Given the description of an element on the screen output the (x, y) to click on. 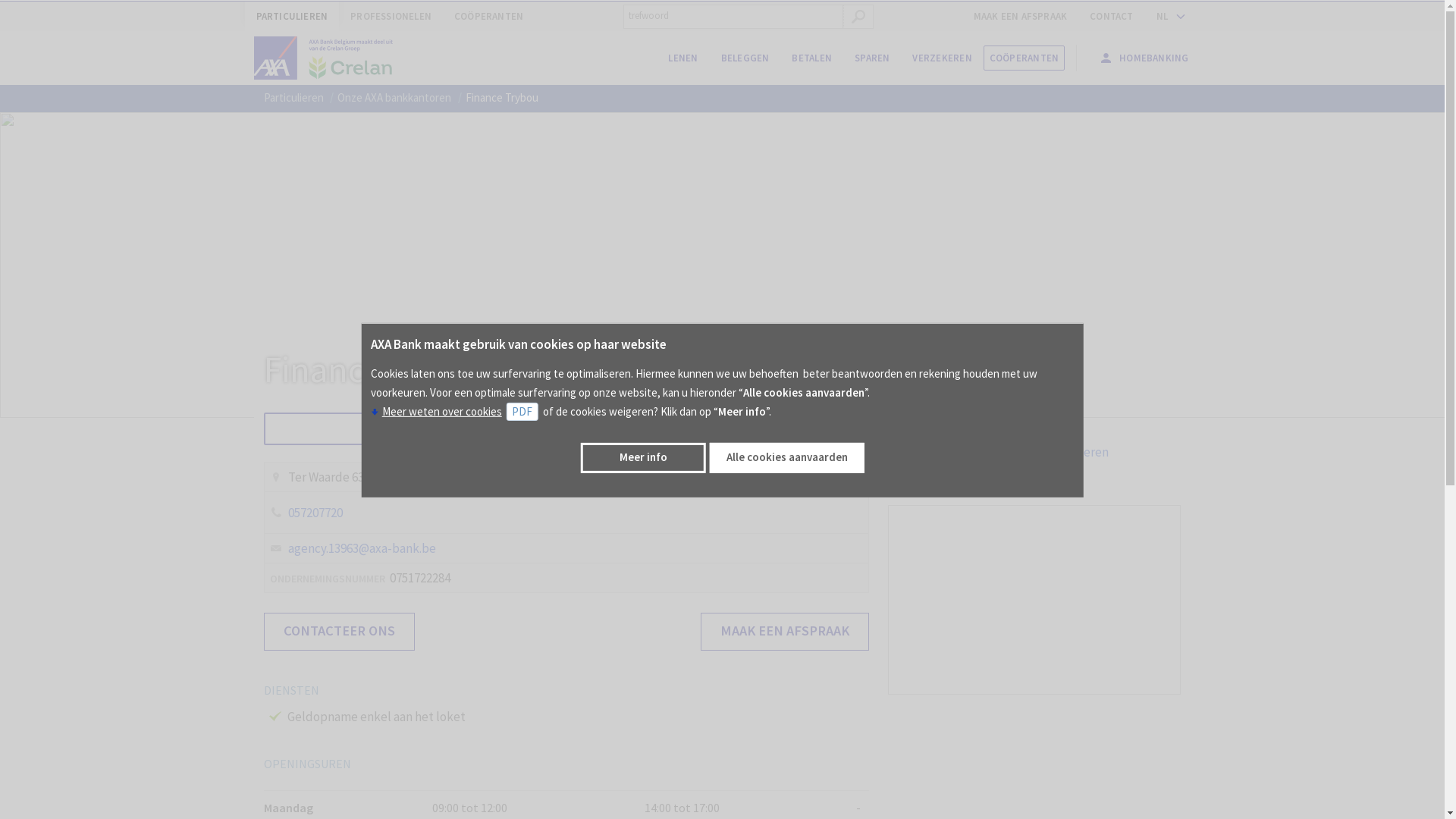
NL Element type: text (1167, 16)
Meer weten over cookiesPDF Element type: text (455, 410)
Telefoon 057207720 Element type: text (565, 512)
SPAREN Element type: text (871, 57)
E-mail agency.13963@axa-bank.be Element type: text (351, 547)
AXA Bank Element type: text (329, 57)
LENEN Element type: text (682, 57)
Alle cookies aanvaarden Element type: text (786, 457)
PROFESSIONELEN Element type: text (390, 16)
BELEGGEN Element type: text (745, 57)
Zoek Element type: text (858, 16)
CONTACTEER ONS Element type: text (338, 631)
MAAK EEN AFSPRAAK Element type: text (1020, 16)
VERZEKEREN Element type: text (941, 57)
HOMEBANKING Element type: text (1143, 57)
Een ander AXA bankkantoor selecteren Element type: text (999, 451)
Onze AXA bankkantoren Element type: text (394, 97)
PARTICULIEREN Element type: text (291, 16)
MAAK EEN AFSPRAAK Element type: text (784, 631)
Particulieren Element type: text (293, 97)
Meer info Element type: text (643, 457)
STEL IN ALS MIJN AXA BANKKANTOOR Element type: text (566, 428)
CONTACT Element type: text (1111, 16)
Bekijk op Google Maps Element type: text (955, 480)
BETALEN Element type: text (811, 57)
